Given the description of an element on the screen output the (x, y) to click on. 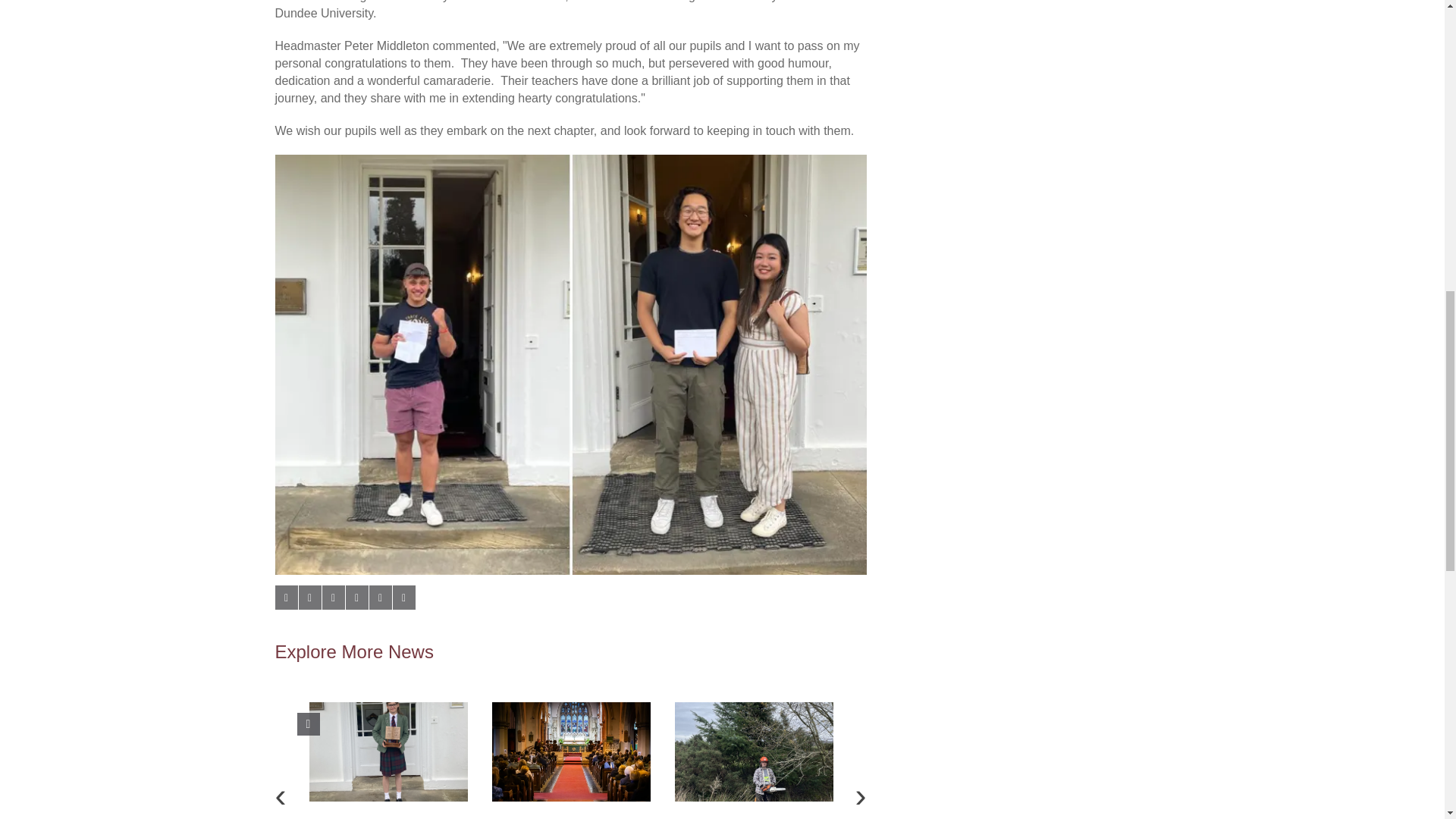
Share to Facebook (286, 597)
Share to Twitter (309, 597)
Oswestry pupil wins Rotary young writers competition (387, 751)
Share to LinkedIn (332, 597)
Print this page (403, 597)
Share to Pinterest (357, 597)
Share to Email (379, 597)
Founder's Day 2024 set to be an exciting day of events (570, 751)
